Given the description of an element on the screen output the (x, y) to click on. 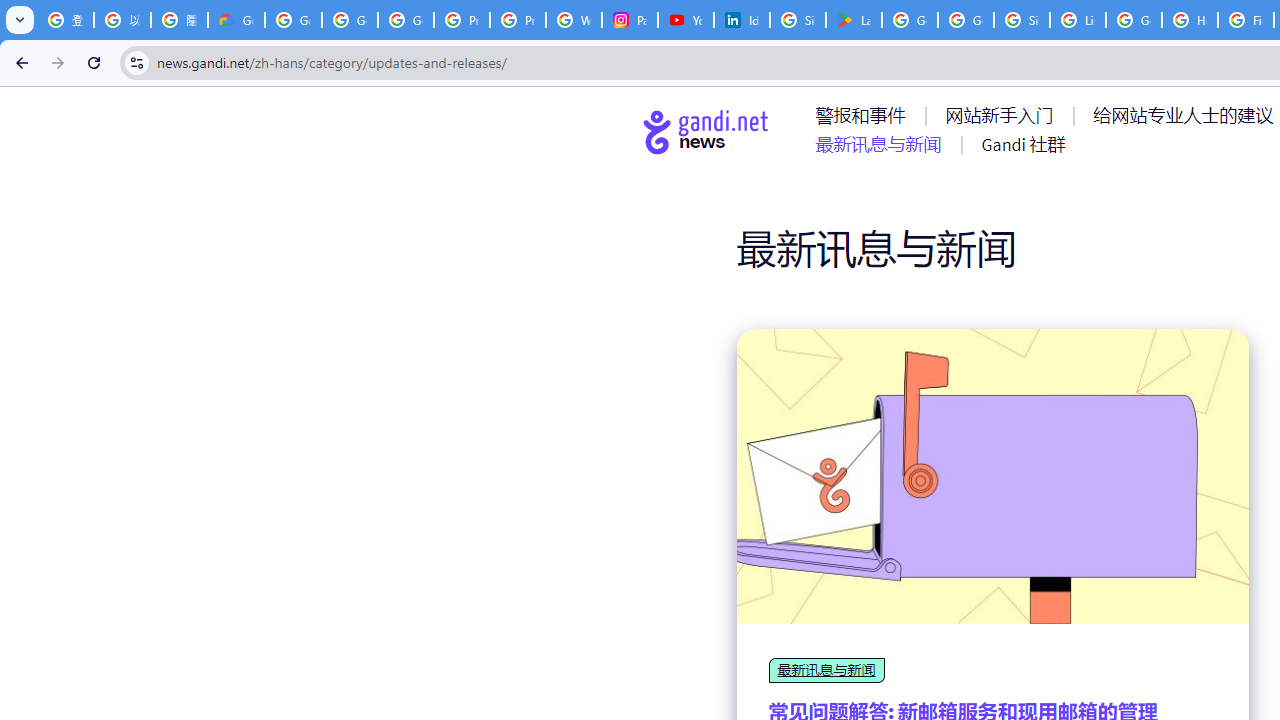
Google Workspace - Specific Terms (966, 20)
Sign in - Google Accounts (1021, 20)
How do I create a new Google Account? - Google Account Help (1190, 20)
AutomationID: menu-item-77767 (1022, 143)
AutomationID: menu-item-77762 (1003, 115)
AutomationID: menu-item-77761 (863, 115)
